Given the description of an element on the screen output the (x, y) to click on. 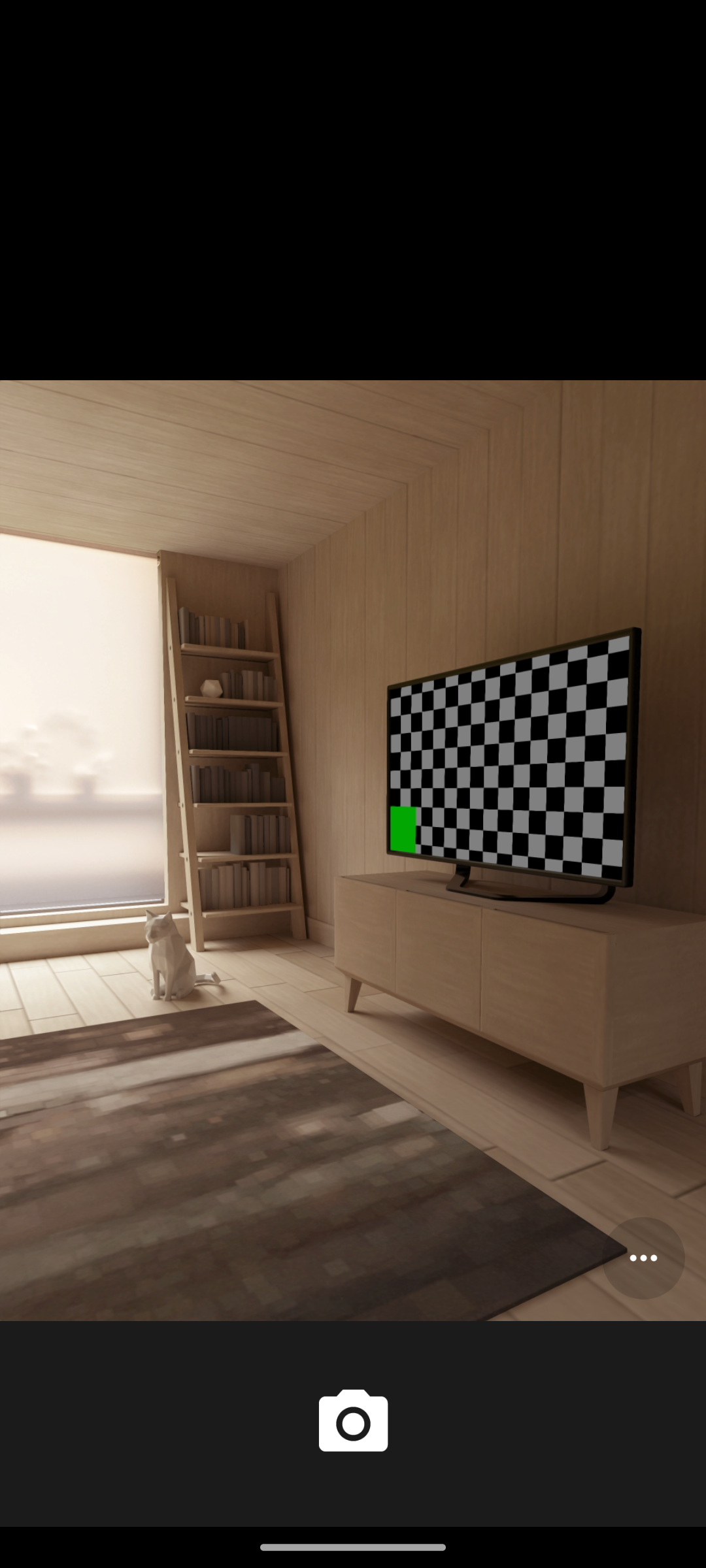
Options (643, 1257)
Shutter (353, 1423)
